Given the description of an element on the screen output the (x, y) to click on. 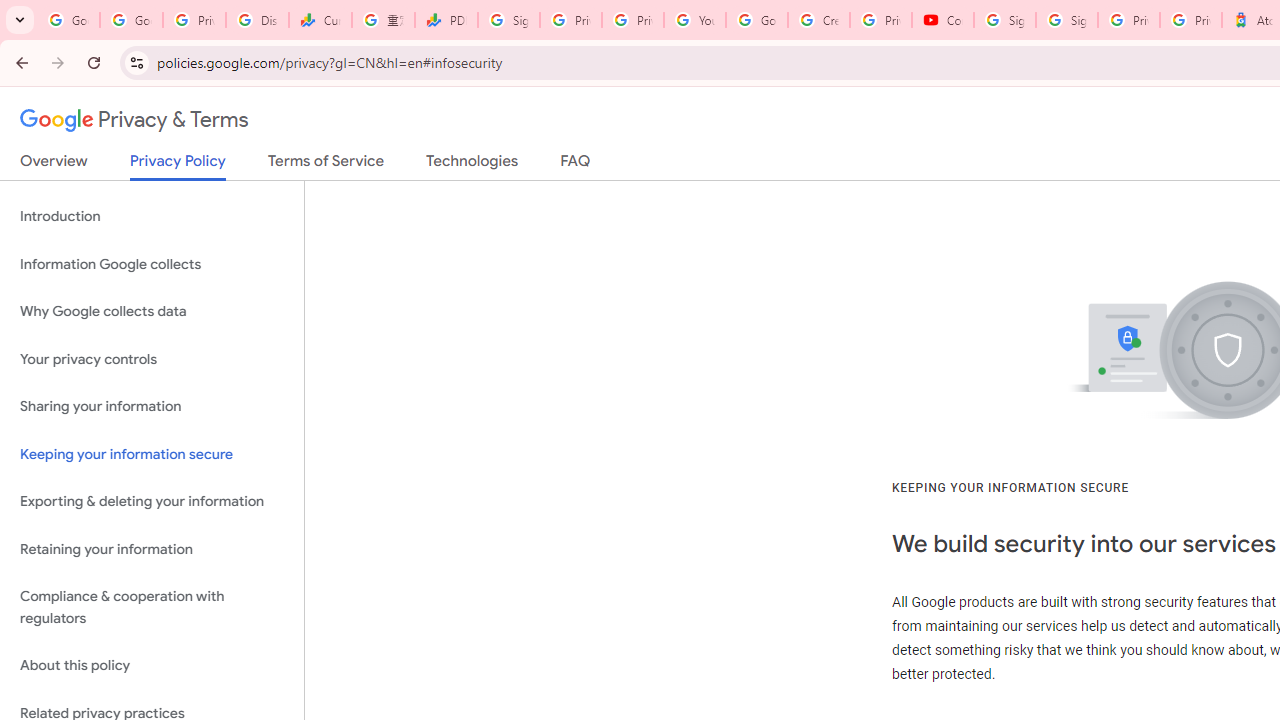
Compliance & cooperation with regulators (152, 607)
Content Creator Programs & Opportunities - YouTube Creators (942, 20)
Sign in - Google Accounts (508, 20)
Currencies - Google Finance (320, 20)
Retaining your information (152, 548)
YouTube (694, 20)
Information Google collects (152, 263)
Keeping your information secure (152, 453)
